Given the description of an element on the screen output the (x, y) to click on. 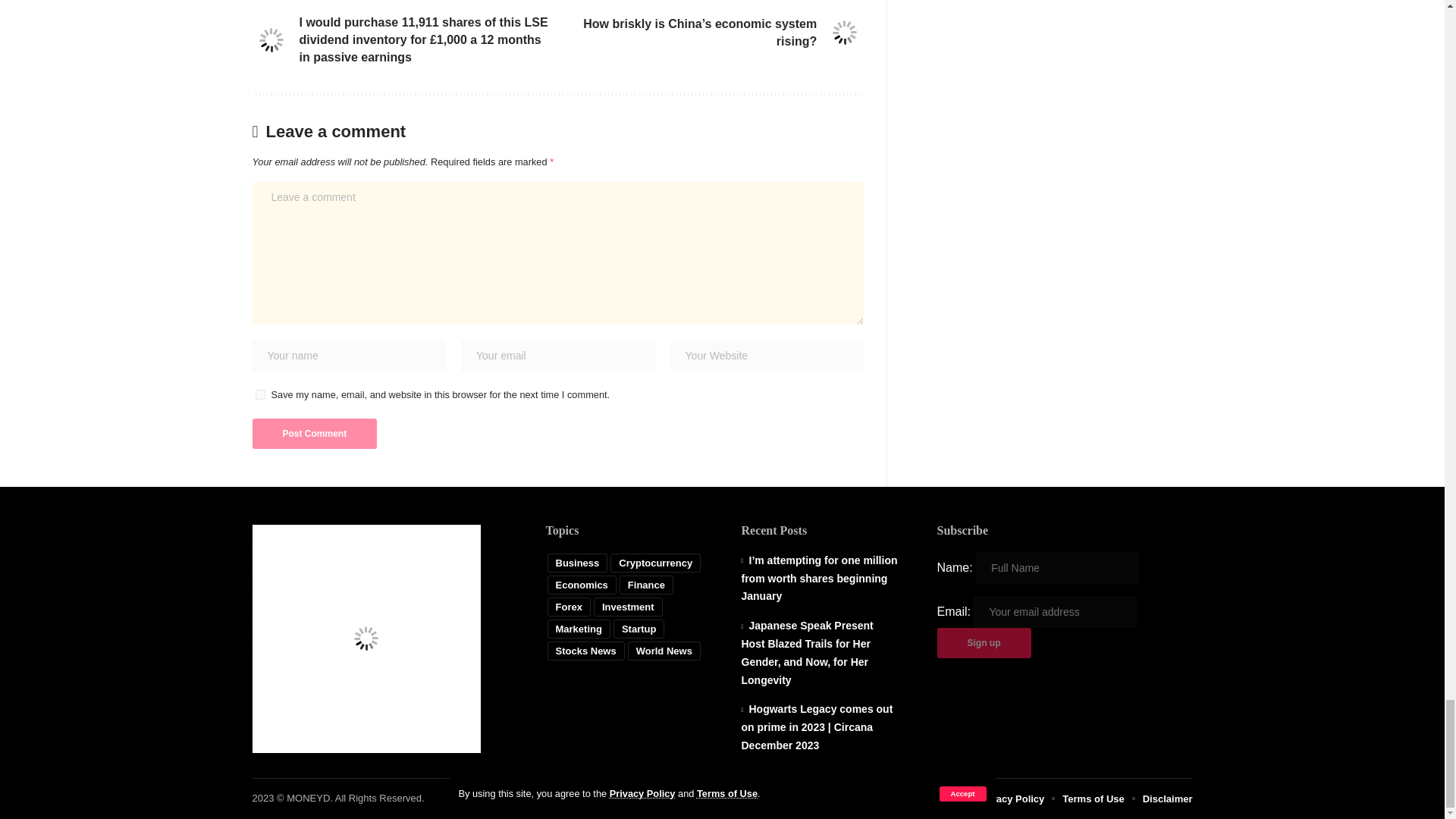
yes (259, 394)
Post Comment (314, 433)
Sign up (983, 643)
